Given the description of an element on the screen output the (x, y) to click on. 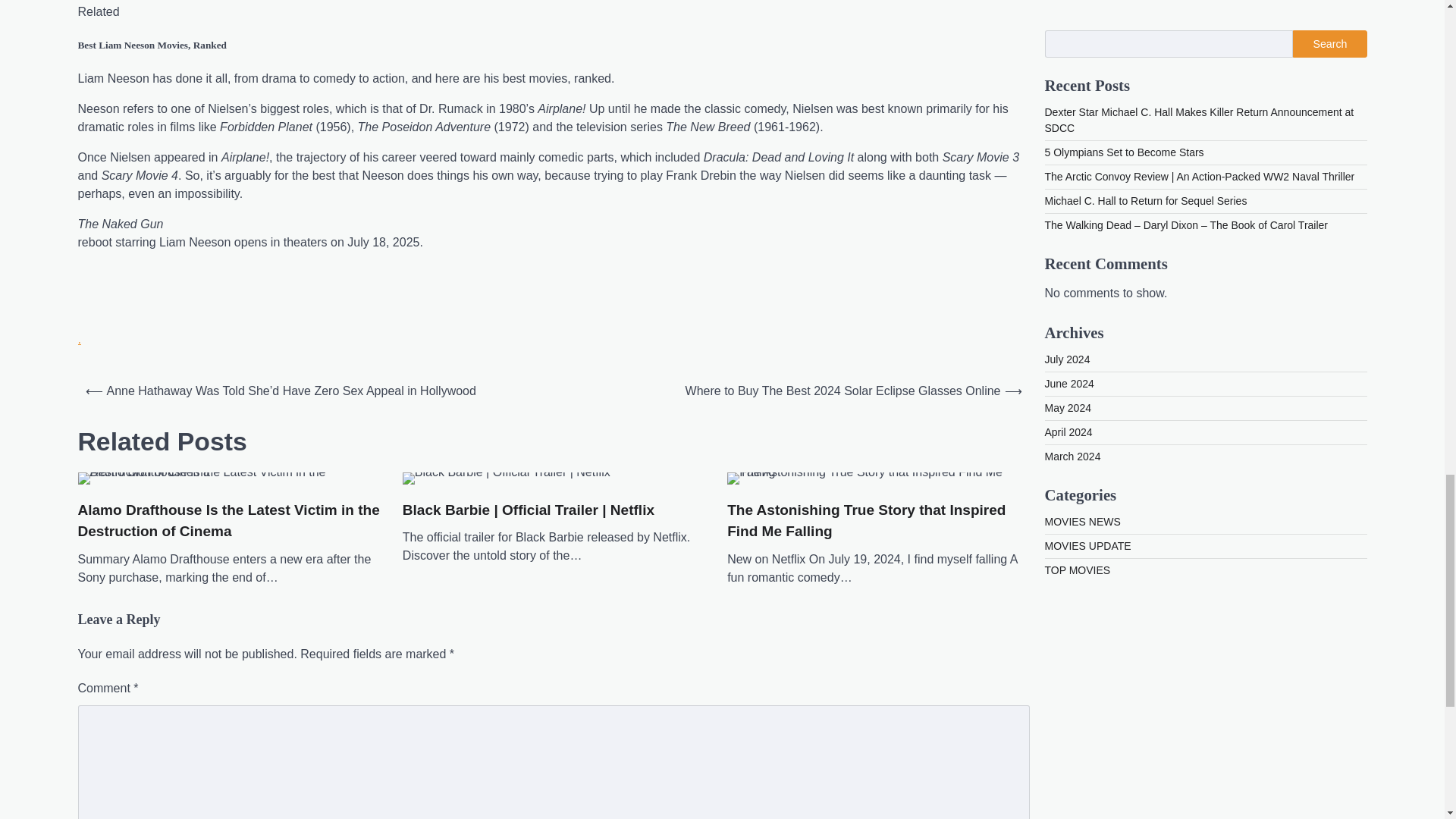
The Astonishing True Story that Inspired Find Me Falling (877, 520)
The Astonishing True Story that Inspired Find Me Falling (877, 478)
